Given the description of an element on the screen output the (x, y) to click on. 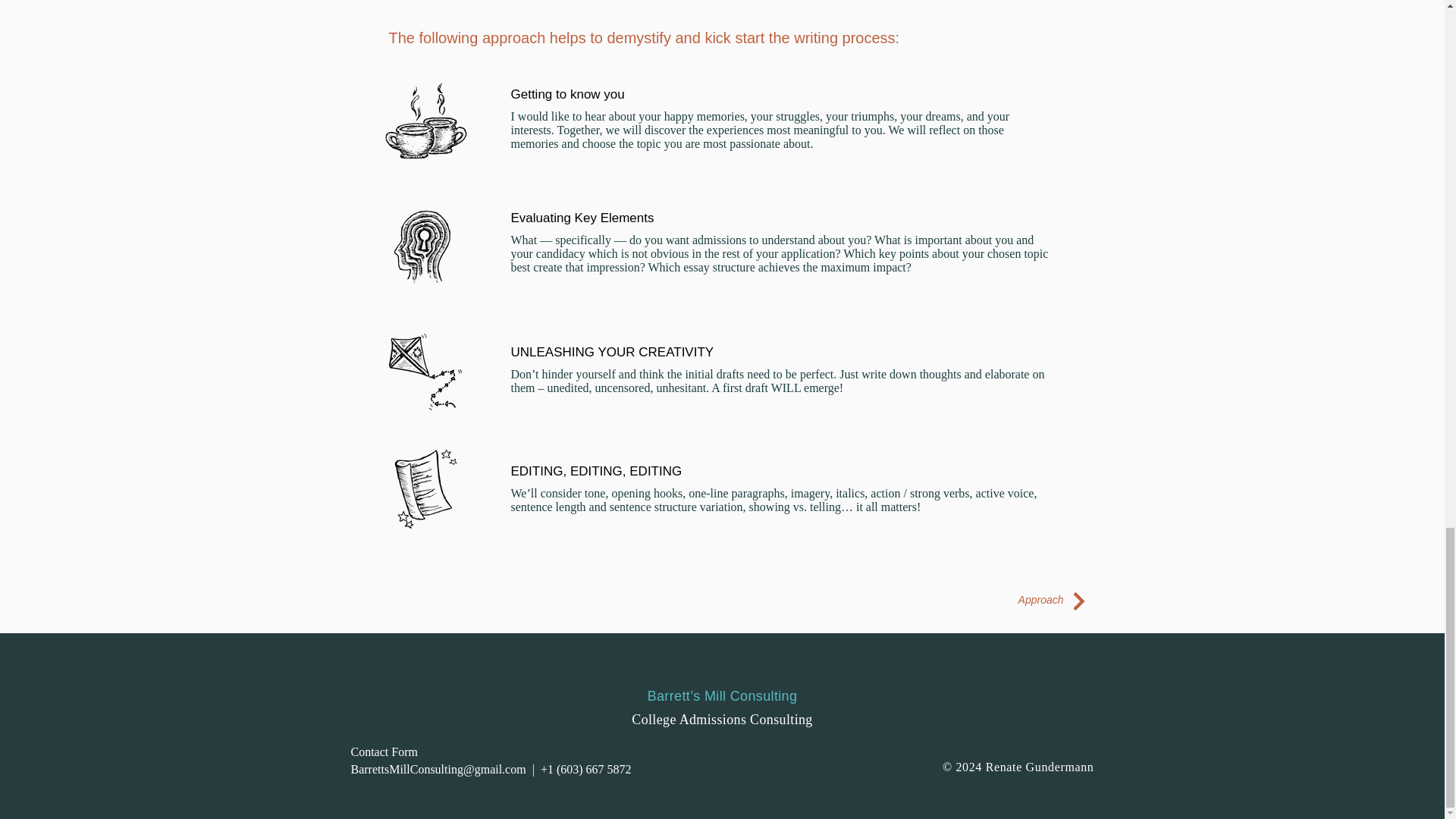
Contact Form (383, 751)
